Given the description of an element on the screen output the (x, y) to click on. 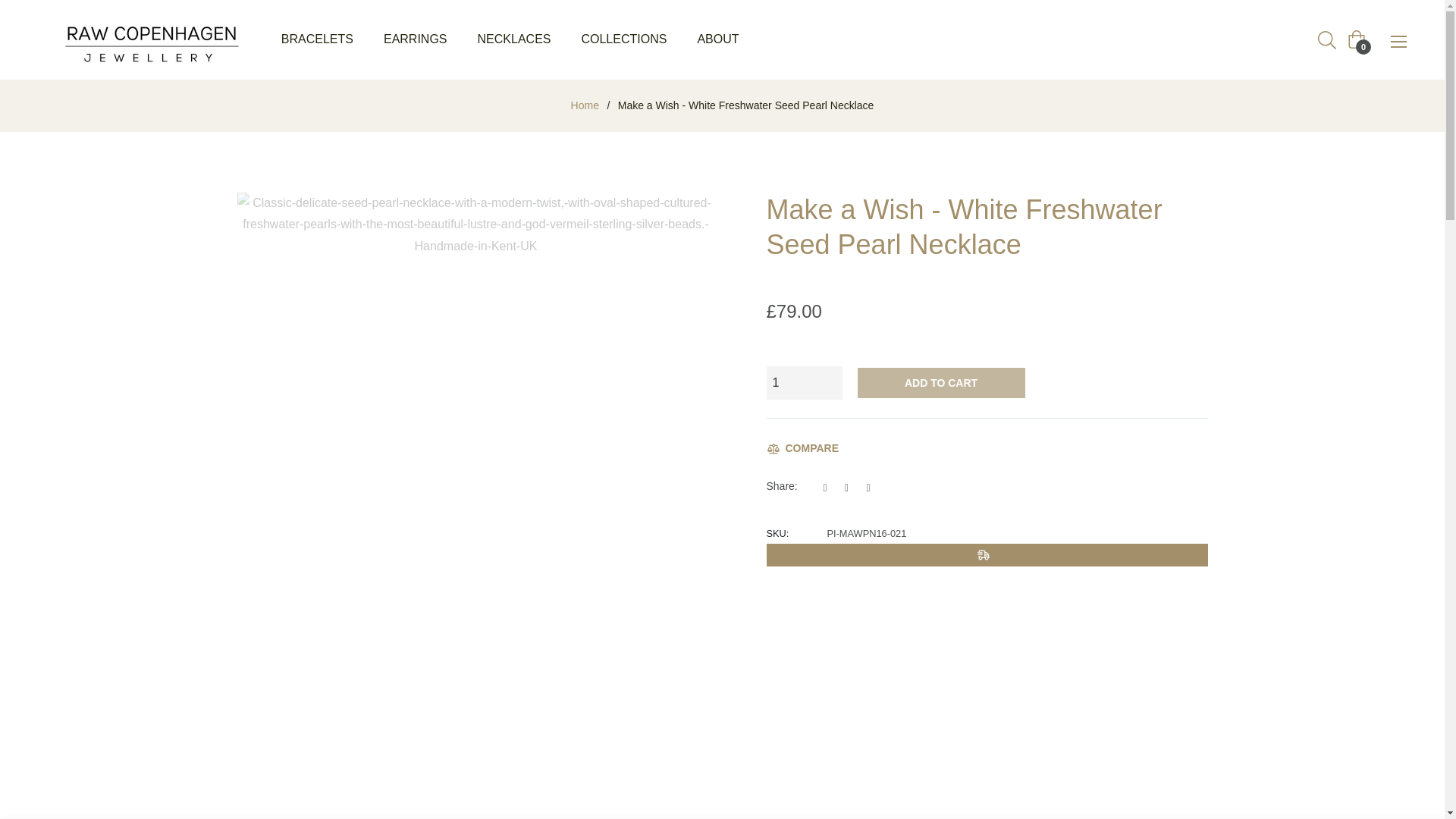
Home (585, 105)
NECKLACES (514, 39)
Tweet on Twitter (851, 486)
ABOUT (717, 39)
BRACELETS (317, 39)
Shopping Cart (1356, 39)
Compare (802, 448)
1 (803, 383)
COLLECTIONS (623, 39)
EARRINGS (415, 39)
